Given the description of an element on the screen output the (x, y) to click on. 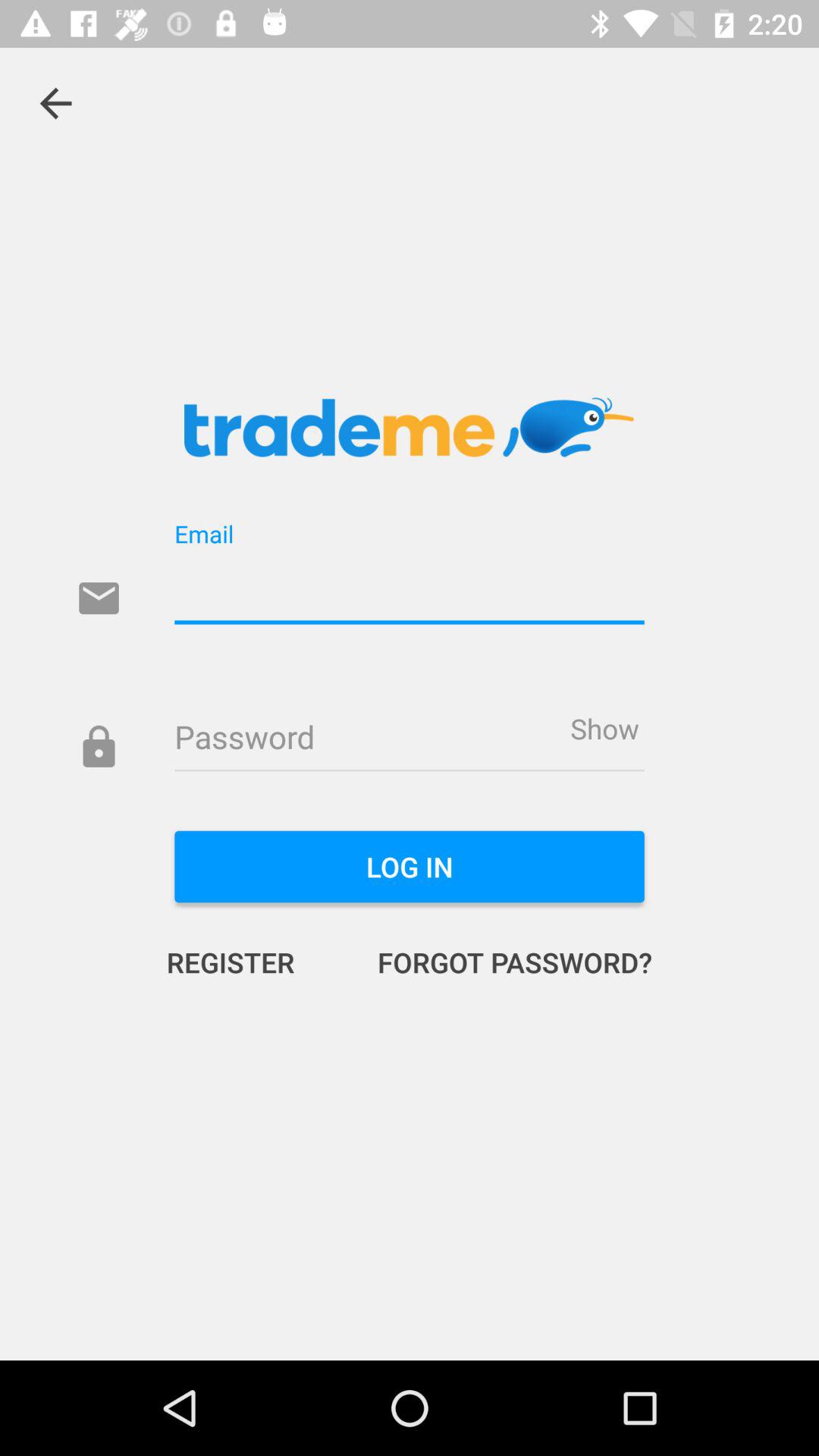
choose the icon to the left of forgot password? icon (246, 962)
